Given the description of an element on the screen output the (x, y) to click on. 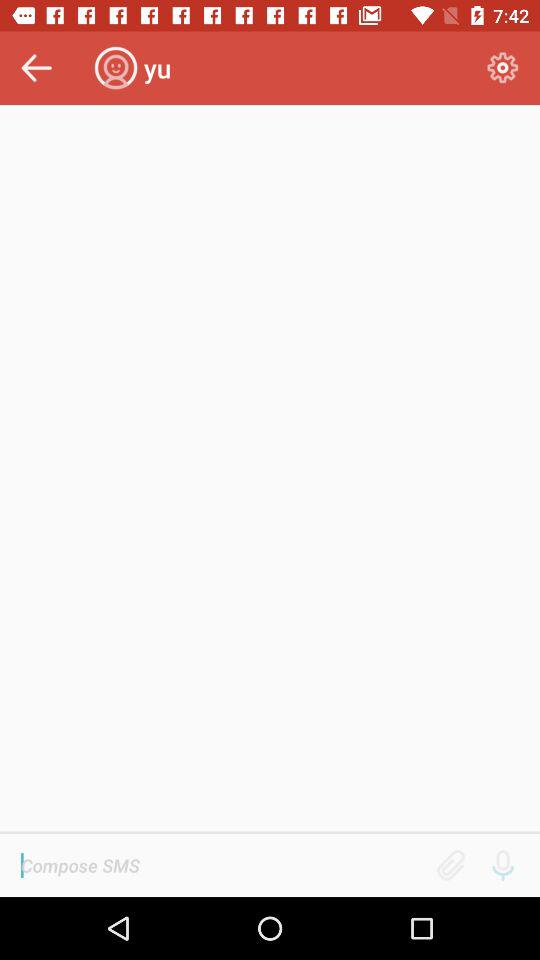
open the icon at the top right corner (502, 67)
